Given the description of an element on the screen output the (x, y) to click on. 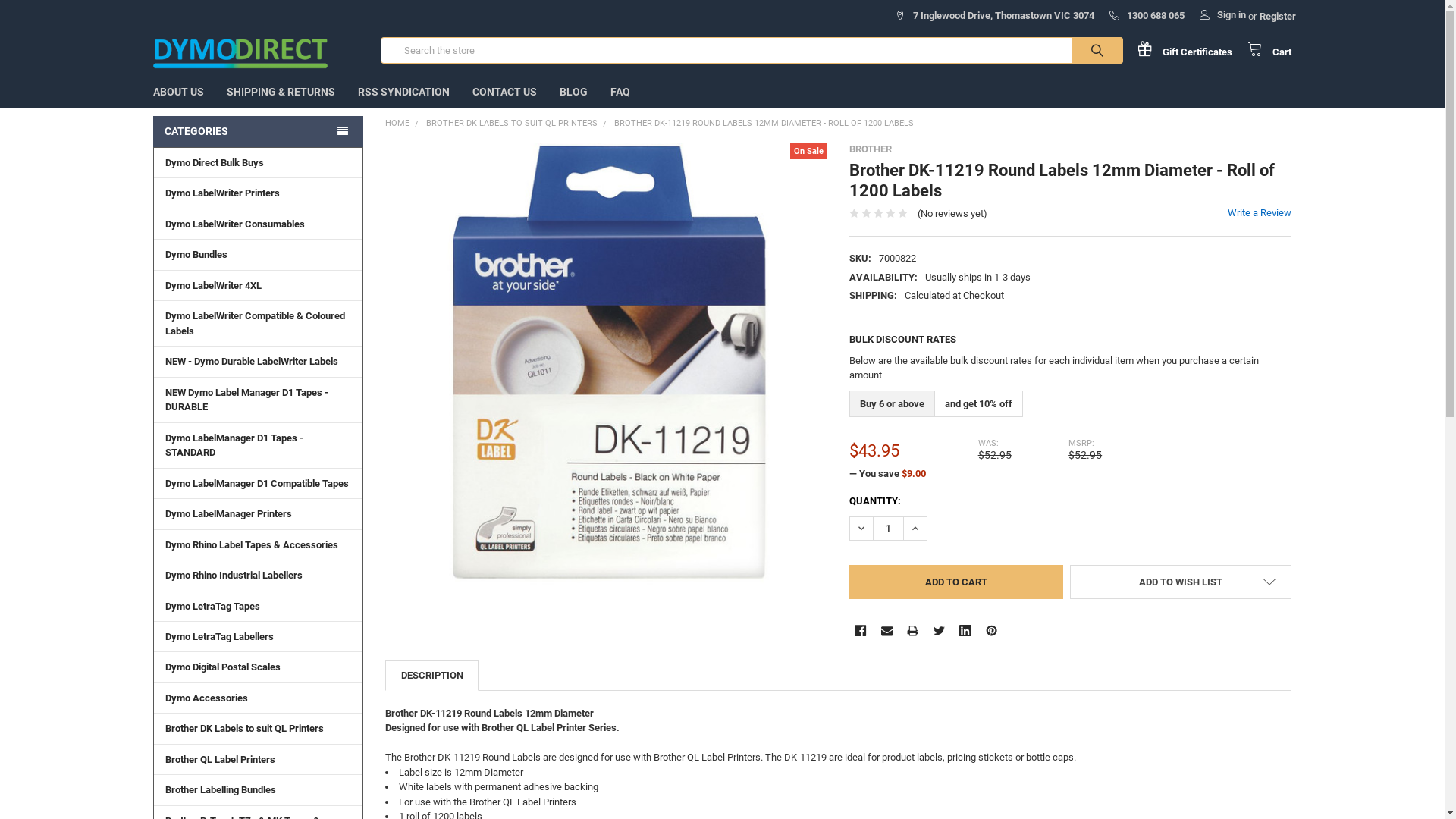
Write a Review Element type: text (1259, 212)
SHIPPING & RETURNS Element type: text (280, 91)
Dymo LetraTag Tapes Element type: text (257, 605)
RSS SYNDICATION Element type: text (403, 91)
Search Element type: text (1081, 50)
Gift Certificates Element type: text (1191, 49)
Dymo Digital Postal Scales Element type: text (257, 666)
INCREASE QUANTITY: Element type: text (915, 528)
FAQ Element type: text (620, 91)
Dymo Accessories Element type: text (257, 697)
DESCRIPTION Element type: text (431, 675)
1300 688 065 Element type: text (1146, 11)
Dymo Direct Bulk Buys Element type: text (257, 162)
ABOUT US Element type: text (178, 91)
Brother QL Label Printers Element type: text (257, 758)
NEW - Dymo Durable LabelWriter Labels Element type: text (257, 360)
HOME Element type: text (397, 123)
ADD TO WISH LIST Element type: text (1180, 581)
Dymo Rhino Label Tapes & Accessories Element type: text (257, 544)
Dymo Direct Element type: hover (240, 50)
CONTACT US Element type: text (504, 91)
Dymo LetraTag Labellers Element type: text (257, 636)
Cart Element type: text (1269, 49)
Dymo Bundles Element type: text (257, 253)
Dymo Rhino Industrial Labellers Element type: text (257, 574)
Sign in Element type: text (1222, 10)
Add to Cart Element type: text (955, 581)
CATEGORIES Element type: text (257, 131)
Dymo LabelManager D1 Compatible Tapes Element type: text (257, 482)
Register Element type: text (1277, 12)
Dymo LabelWriter Consumables Element type: text (257, 223)
Dymo LabelWriter Printers Element type: text (257, 192)
DECREASE QUANTITY: Element type: text (861, 528)
NEW Dymo Label Manager D1 Tapes - DURABLE Element type: text (257, 399)
Brother DK Labels to suit QL Printers Element type: text (257, 727)
BROTHER Element type: text (870, 148)
Dymo LabelManager D1 Tapes - STANDARD Element type: text (257, 444)
Dymo LabelWriter 4XL Element type: text (257, 284)
BROTHER DK LABELS TO SUIT QL PRINTERS Element type: text (511, 123)
BLOG Element type: text (573, 91)
Brother Labelling Bundles Element type: text (257, 789)
Dymo LabelManager Printers Element type: text (257, 513)
Dymo LabelWriter Compatible & Coloured Labels Element type: text (257, 322)
